Given the description of an element on the screen output the (x, y) to click on. 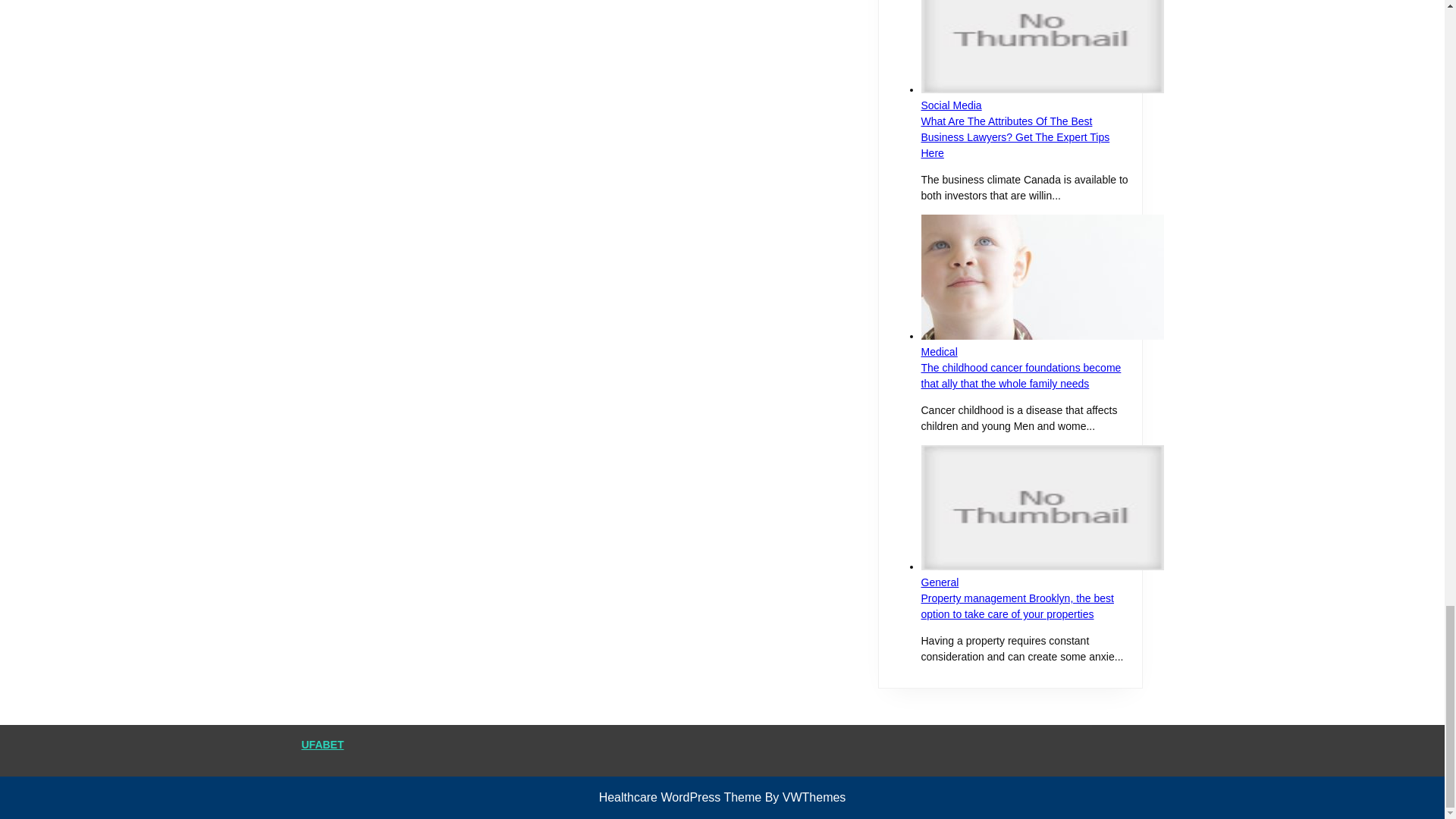
UFABET (322, 744)
